Given the description of an element on the screen output the (x, y) to click on. 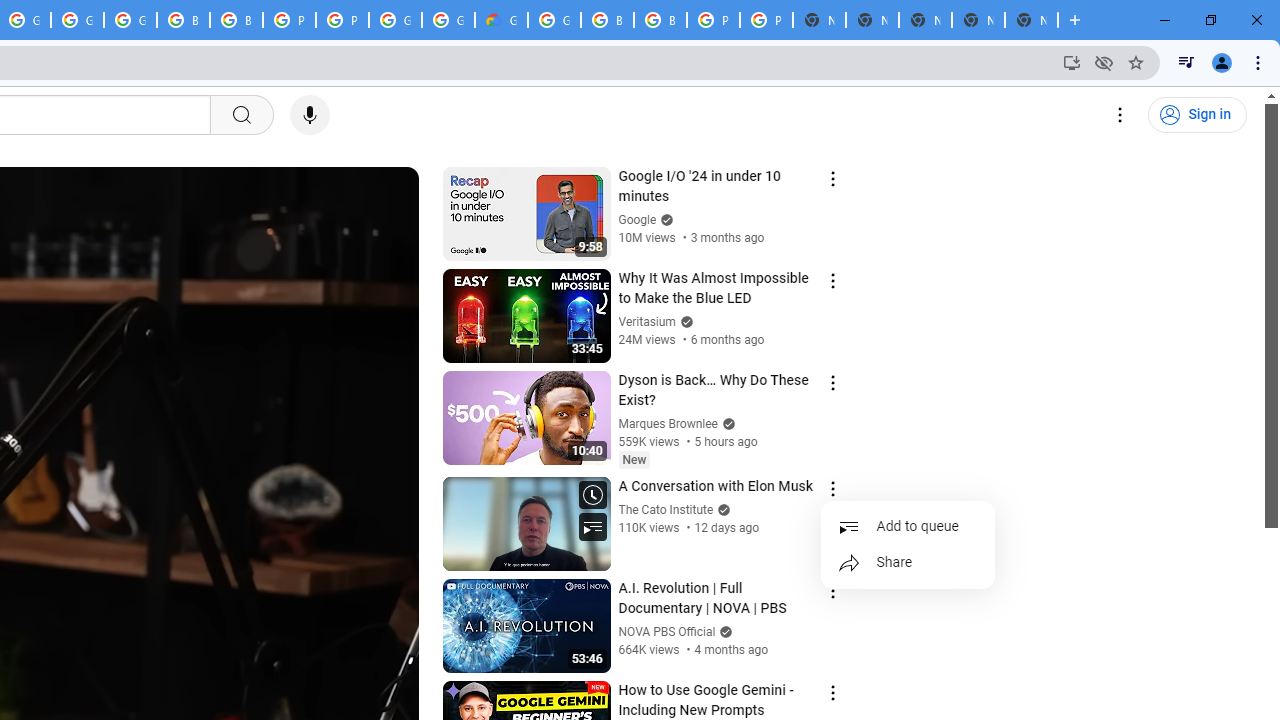
Install YouTube (1071, 62)
New (634, 459)
New Tab (1031, 20)
Action menu (832, 692)
